Given the description of an element on the screen output the (x, y) to click on. 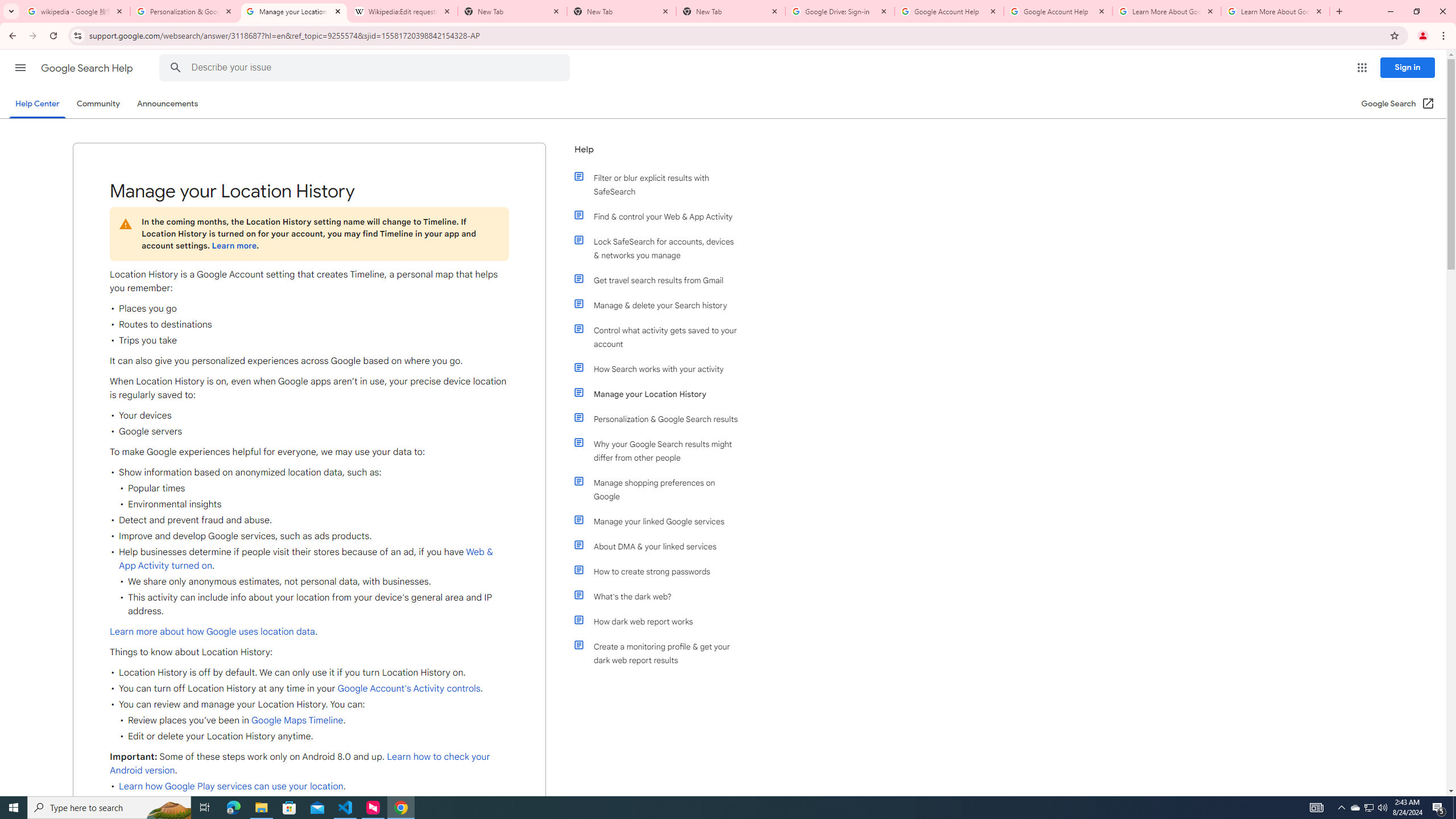
Google Account Help (1058, 11)
New Tab (730, 11)
Personalization & Google Search results (661, 419)
Main menu (20, 67)
Google Search (Open in a new window) (1398, 103)
Describe your issue (365, 67)
Manage shopping preferences on Google (661, 489)
What's the dark web? (661, 596)
Manage your Location History - Google Search Help (293, 11)
